Given the description of an element on the screen output the (x, y) to click on. 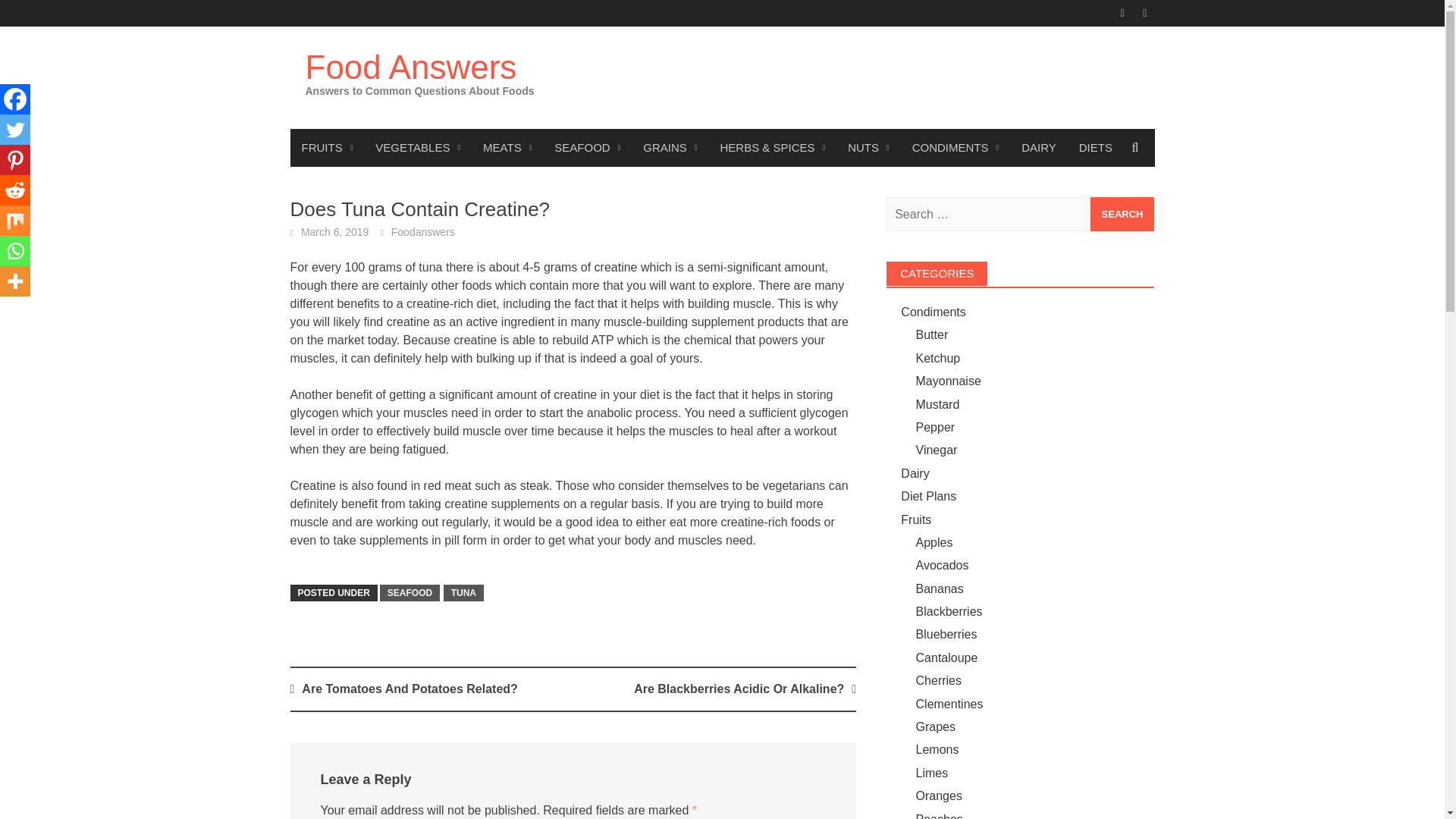
FRUITS (326, 147)
Food Answers (410, 66)
Search (1122, 213)
Twitter (15, 129)
VEGETABLES (417, 147)
Whatsapp (15, 250)
Reddit (15, 190)
More (15, 281)
Mix (15, 220)
Facebook (15, 99)
